Given the description of an element on the screen output the (x, y) to click on. 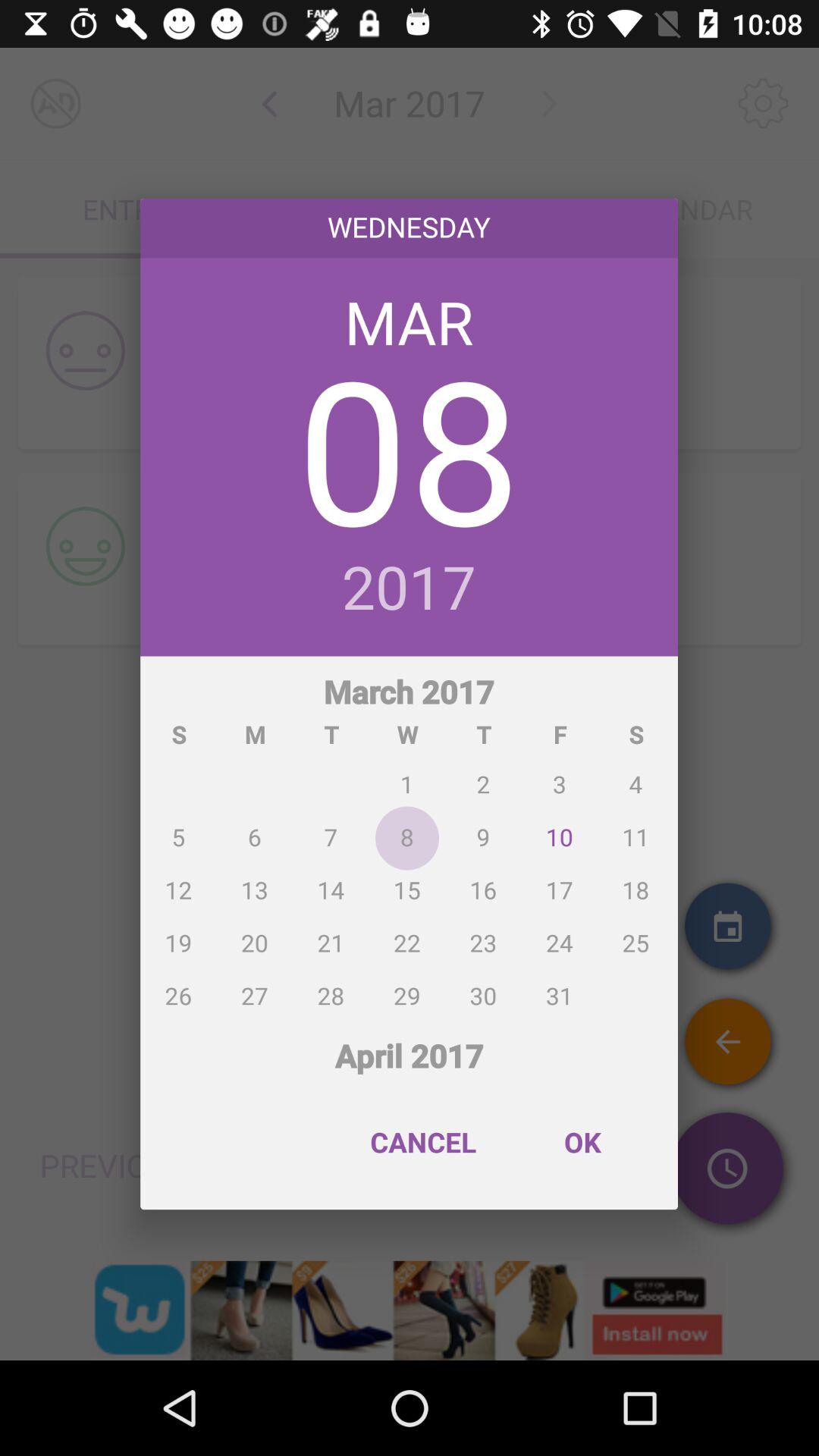
open button above the cancel (408, 1047)
